Given the description of an element on the screen output the (x, y) to click on. 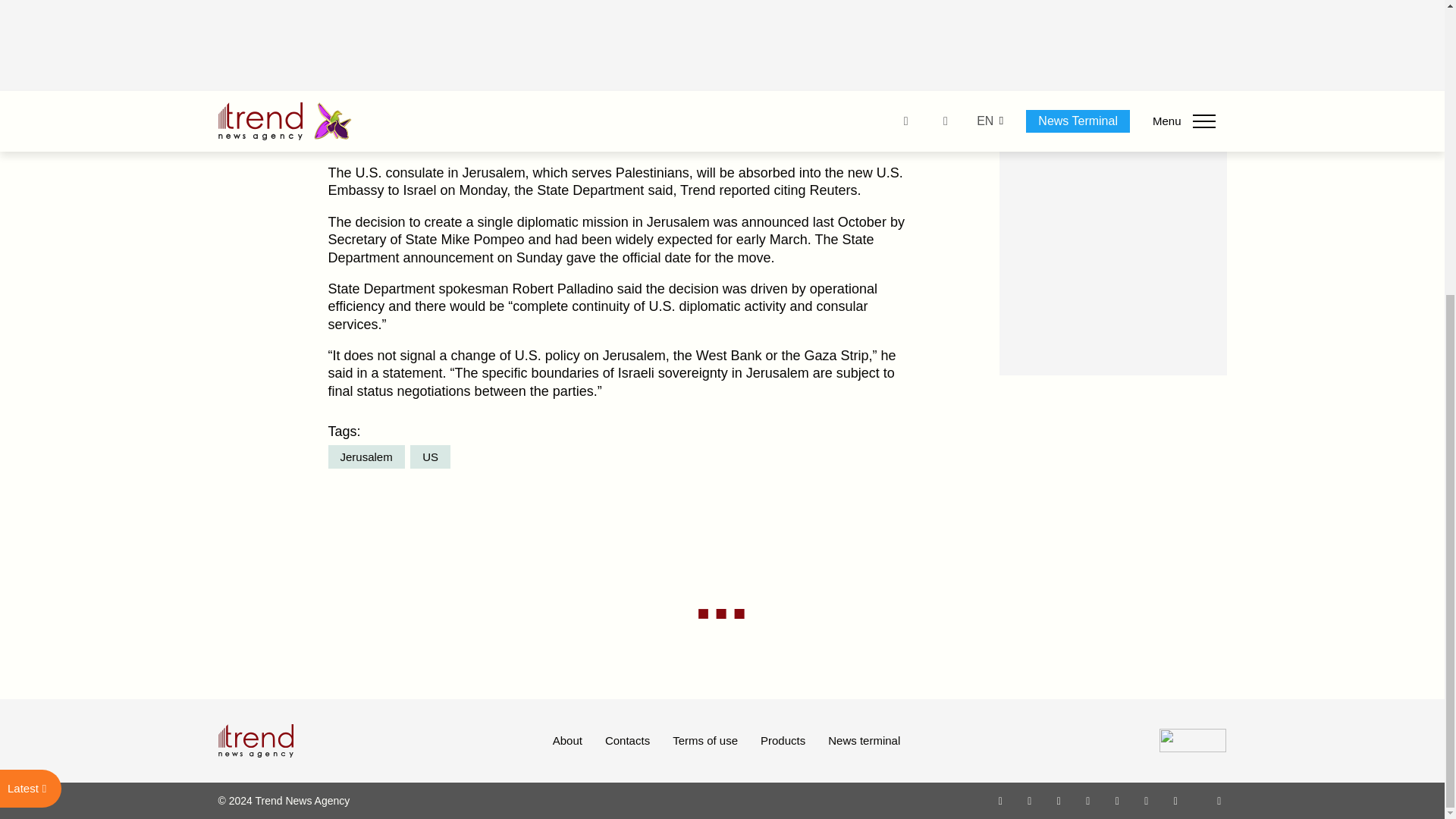
Facebook (1029, 800)
LinkedIn (1146, 800)
Telegram (1117, 800)
RSS Feed (1219, 800)
Youtube (1088, 800)
Whatsapp (1000, 800)
Twitter (1059, 800)
Android App (1176, 800)
